Given the description of an element on the screen output the (x, y) to click on. 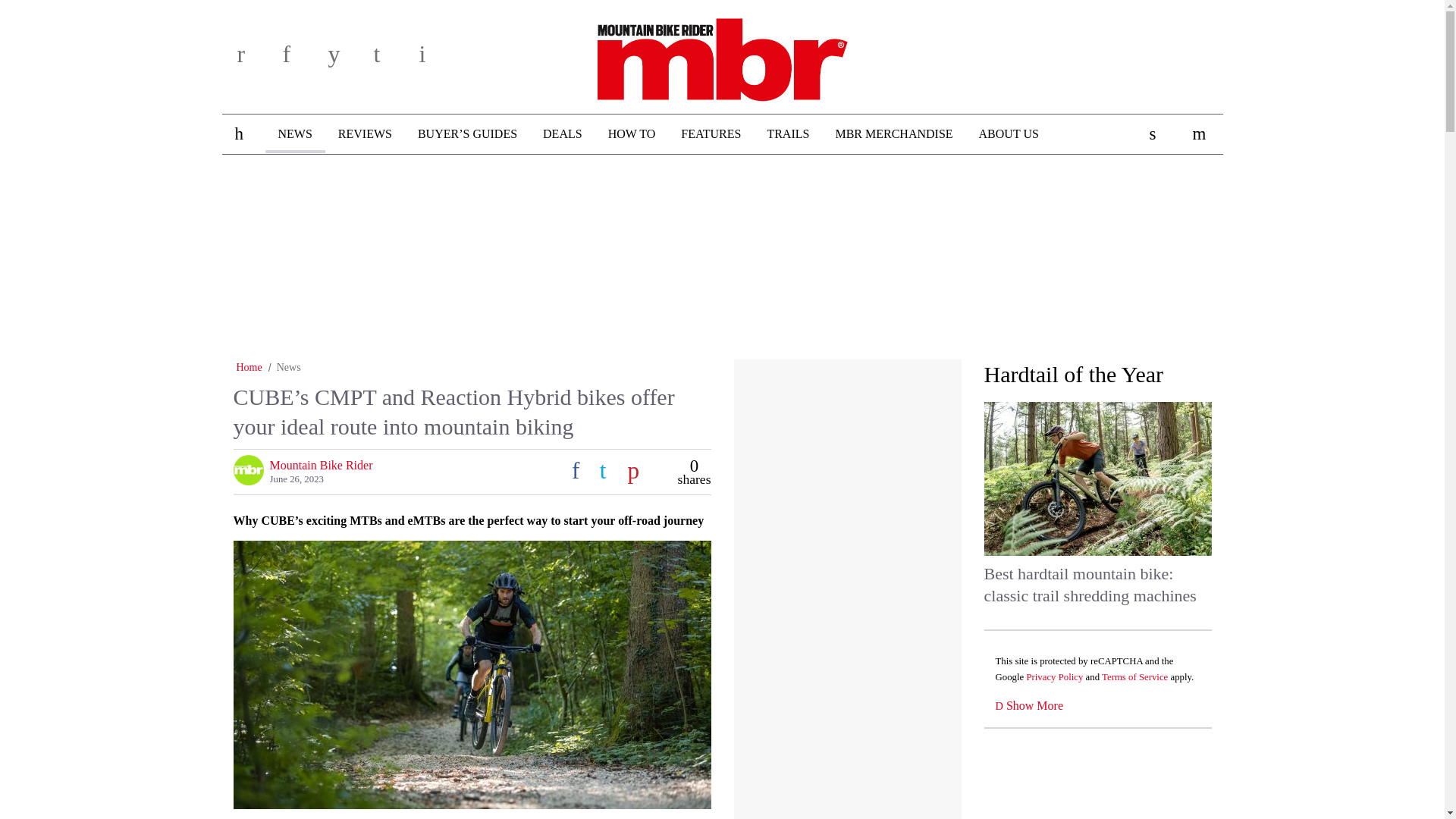
News (288, 367)
FEATURES (711, 133)
i (436, 59)
TRAILS (788, 133)
Mountain Bike Rider's Profile (320, 464)
t (390, 59)
MBR (721, 53)
r (254, 59)
MBR (721, 53)
NEWS (294, 133)
